Given the description of an element on the screen output the (x, y) to click on. 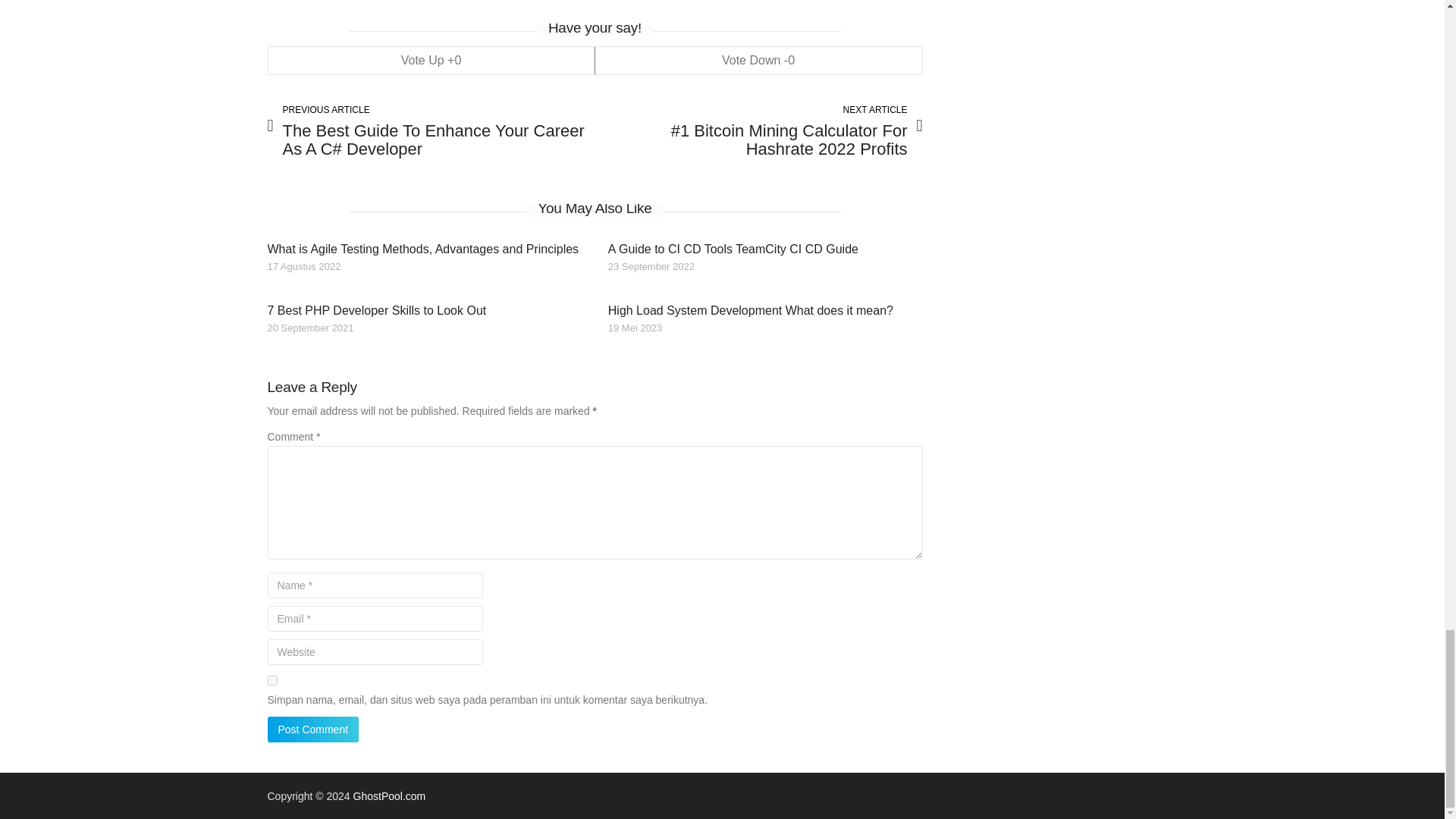
A Guide to CI CD Tools TeamCity CI CD Guide (733, 248)
GhostPool.com (389, 796)
Post Comment (312, 729)
What is Agile Testing Methods, Advantages and Principles (422, 248)
What is Agile Testing Methods, Advantages and Principles (422, 248)
High Load System Development What does it mean? (750, 309)
Post Comment (312, 729)
7 Best PHP Developer Skills to Look Out (376, 309)
yes (271, 680)
7 Best PHP Developer Skills to Look Out (376, 309)
A Guide to CI CD Tools TeamCity CI CD Guide (733, 248)
High Load System Development What does it mean? (750, 309)
